Given the description of an element on the screen output the (x, y) to click on. 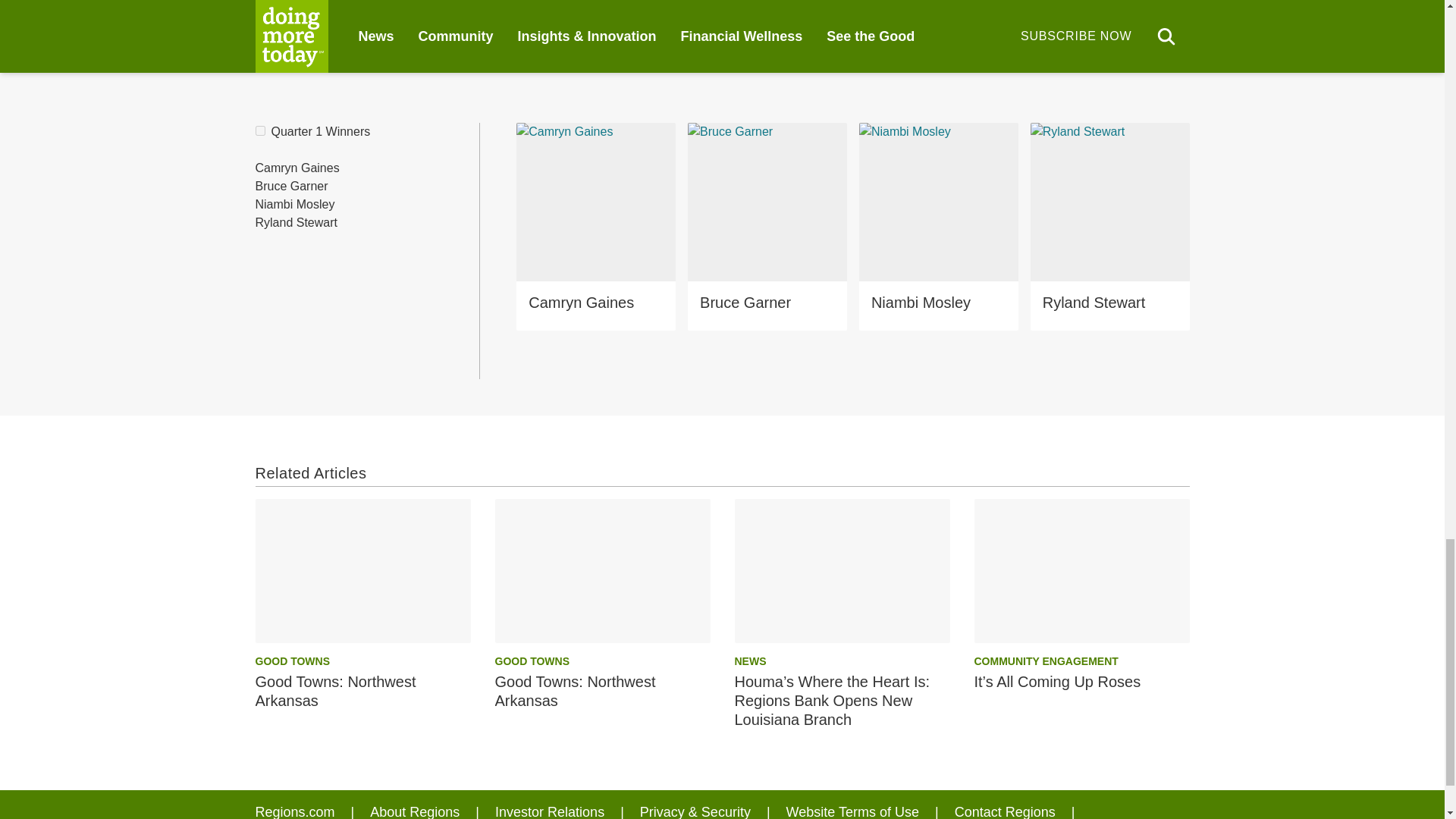
Bruce Garner (290, 186)
Good Towns: Northwest Arkansas (602, 570)
Ryland Stewart (295, 223)
Good Towns: Northwest Arkansas (362, 570)
Camryn Gaines (296, 168)
Niambi Mosley (294, 204)
quarter-1 (259, 130)
